Given the description of an element on the screen output the (x, y) to click on. 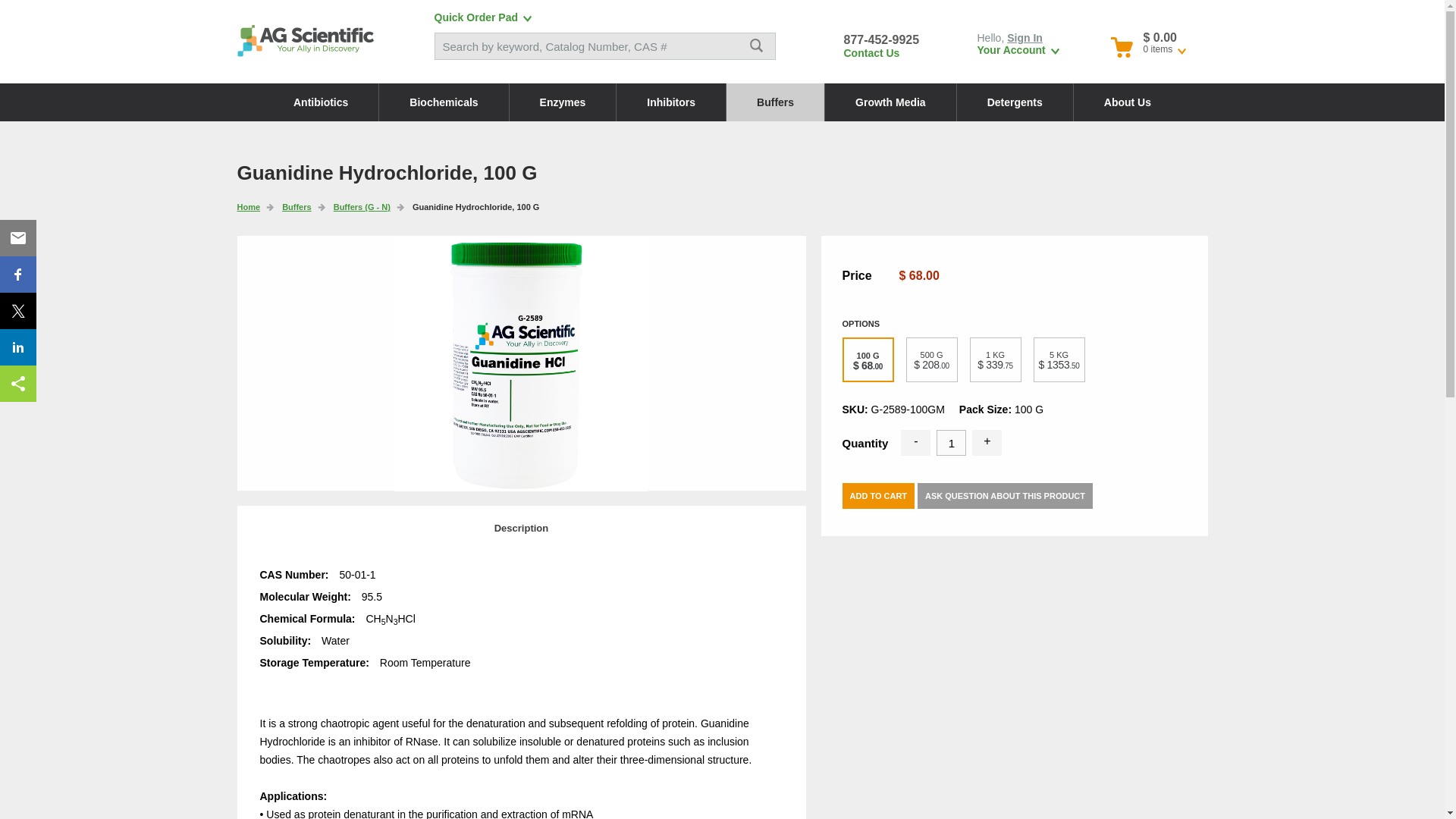
search (755, 45)
Contact Us (871, 52)
1 (951, 442)
Contact Us (871, 52)
search (755, 45)
Antibiotics (320, 102)
Biochemicals (443, 102)
AG Scientific (303, 39)
Sign In (1024, 37)
Biochemicals (443, 102)
Sign In (1024, 37)
Antibiotics (320, 102)
877-452-9925 (880, 39)
AG Scientific (303, 39)
